Given the description of an element on the screen output the (x, y) to click on. 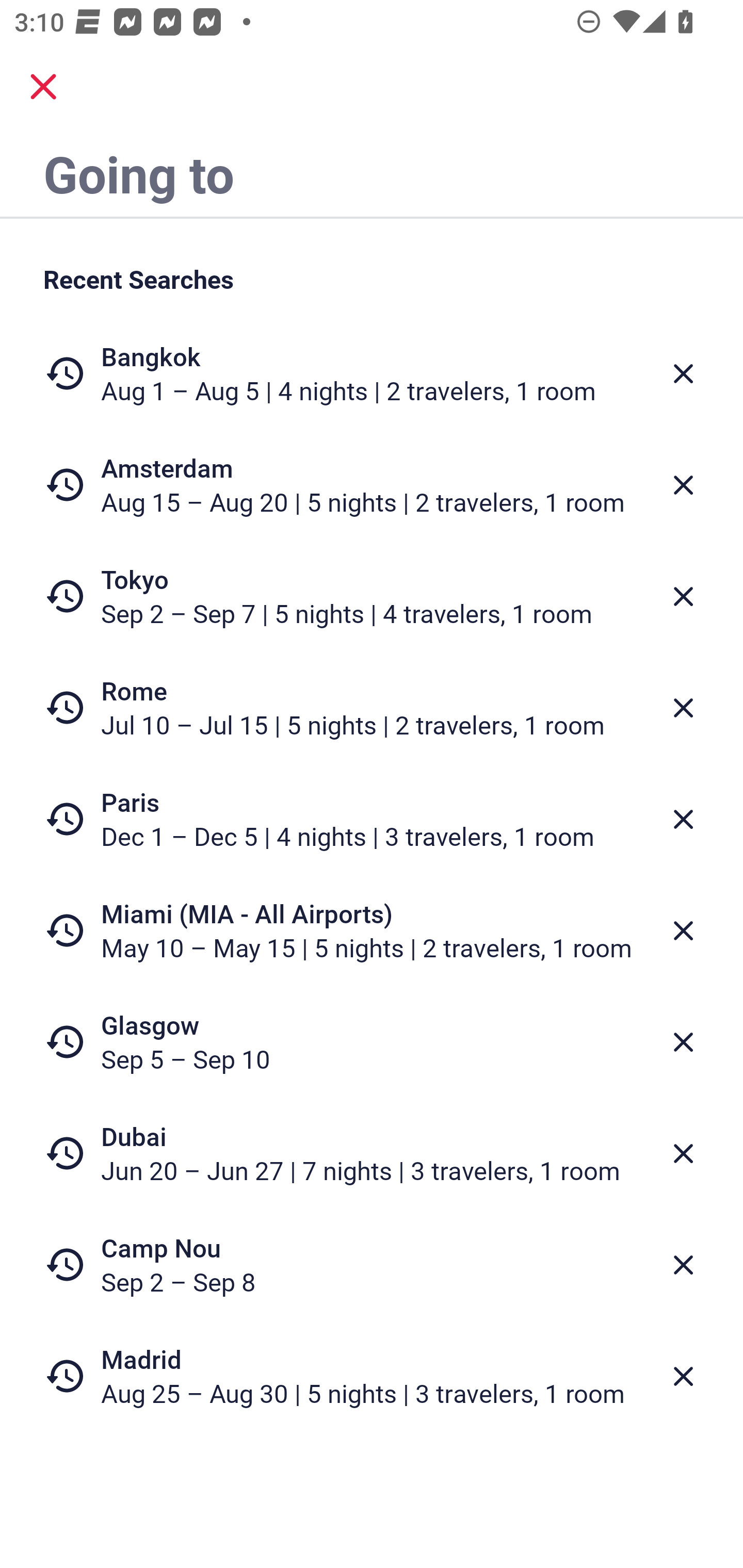
close. (43, 86)
Delete from recent searches (683, 373)
Delete from recent searches (683, 485)
Delete from recent searches (683, 596)
Delete from recent searches (683, 707)
Delete from recent searches (683, 819)
Delete from recent searches (683, 930)
Glasgow Sep 5 – Sep 10 (371, 1041)
Delete from recent searches (683, 1041)
Delete from recent searches (683, 1153)
Camp Nou Sep 2 – Sep 8 (371, 1264)
Delete from recent searches (683, 1265)
Delete from recent searches (683, 1376)
